Given the description of an element on the screen output the (x, y) to click on. 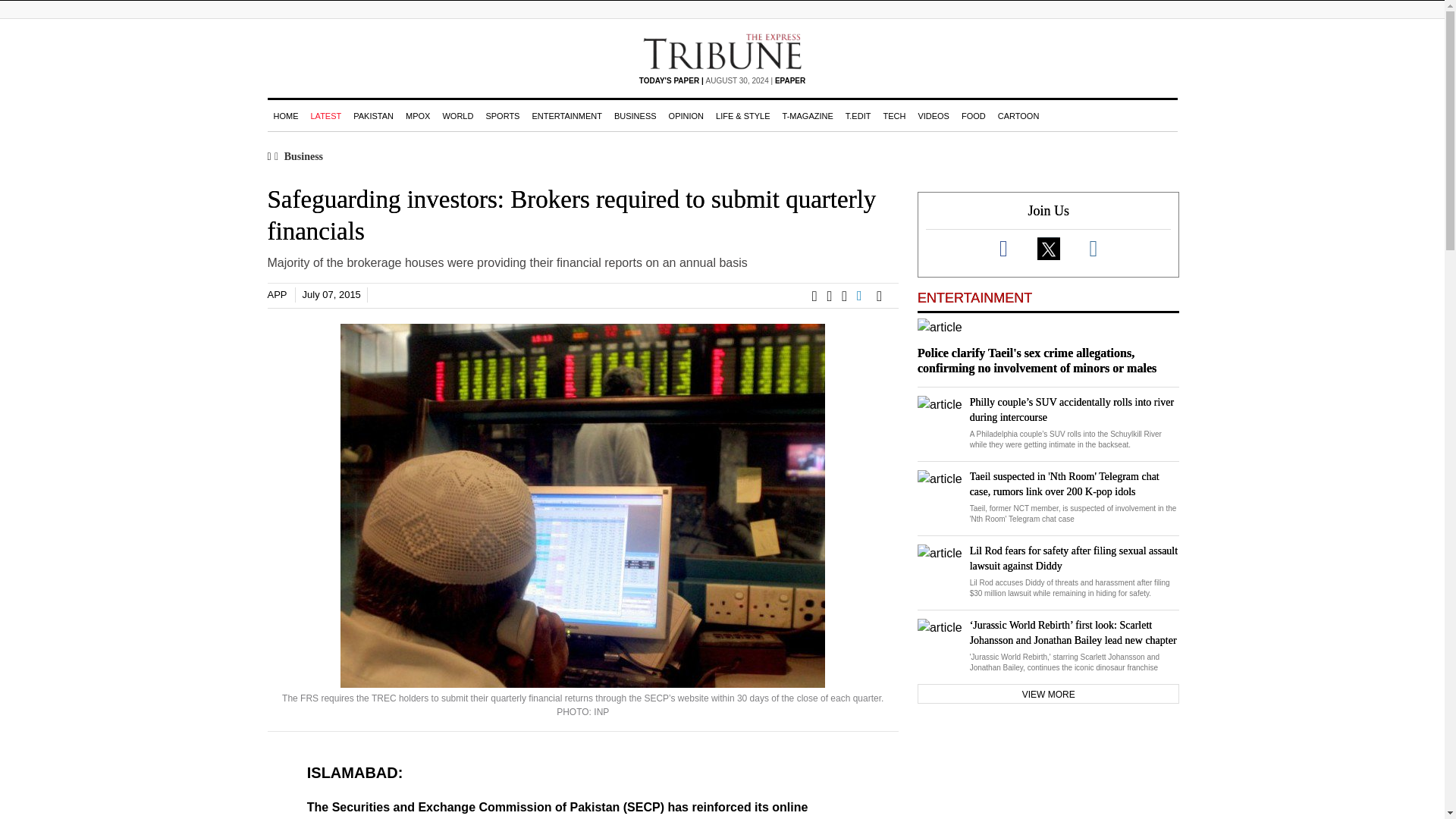
TECH (893, 114)
LINKDED (866, 296)
VIDEOS (933, 114)
T.EDIT (858, 114)
EPAPER (789, 80)
OPINION (686, 114)
T-MAGAZINE (808, 114)
ENTERTAINMENT (566, 114)
TWITTER (834, 296)
